Given the description of an element on the screen output the (x, y) to click on. 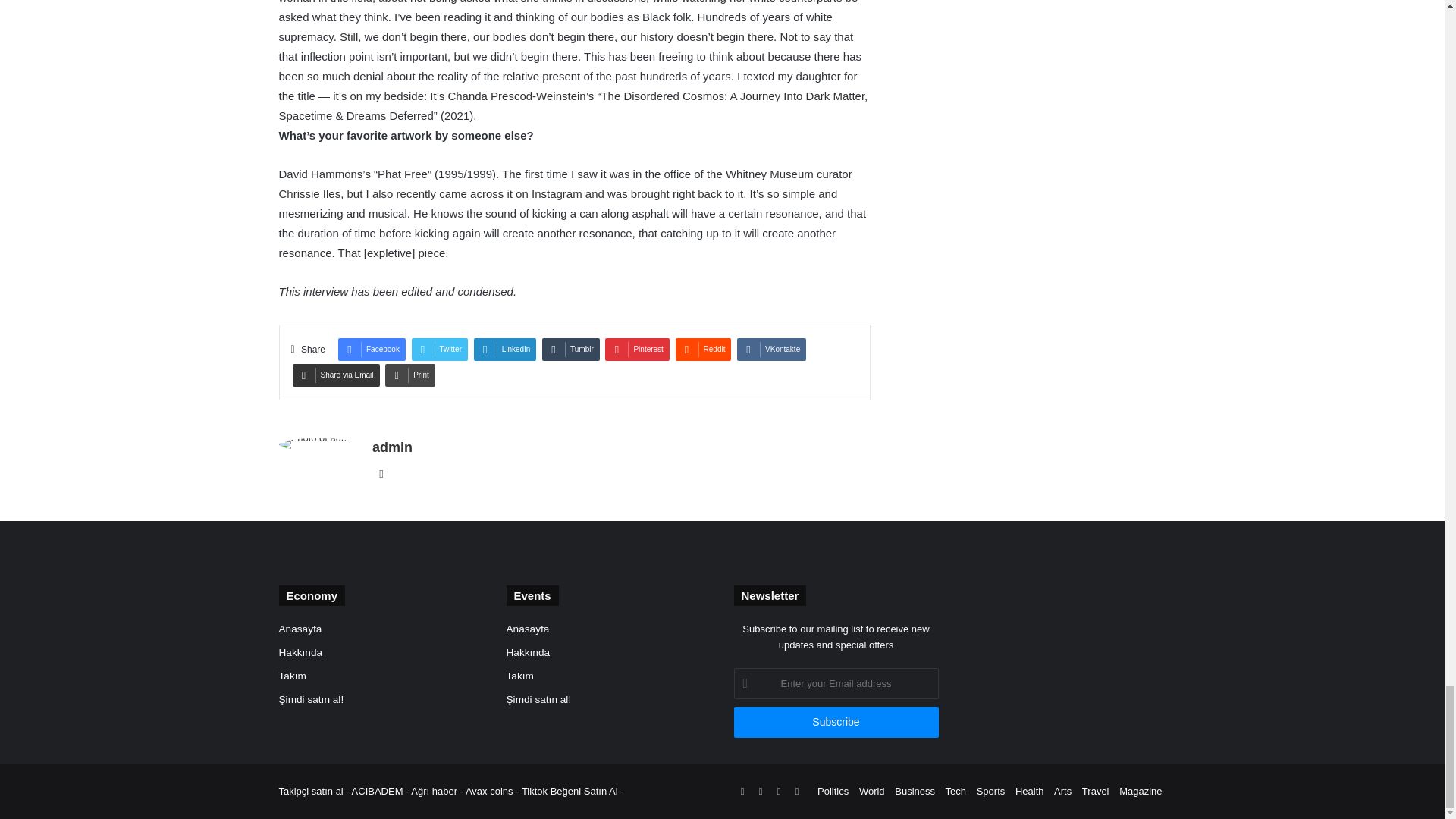
Subscribe (836, 721)
